Given the description of an element on the screen output the (x, y) to click on. 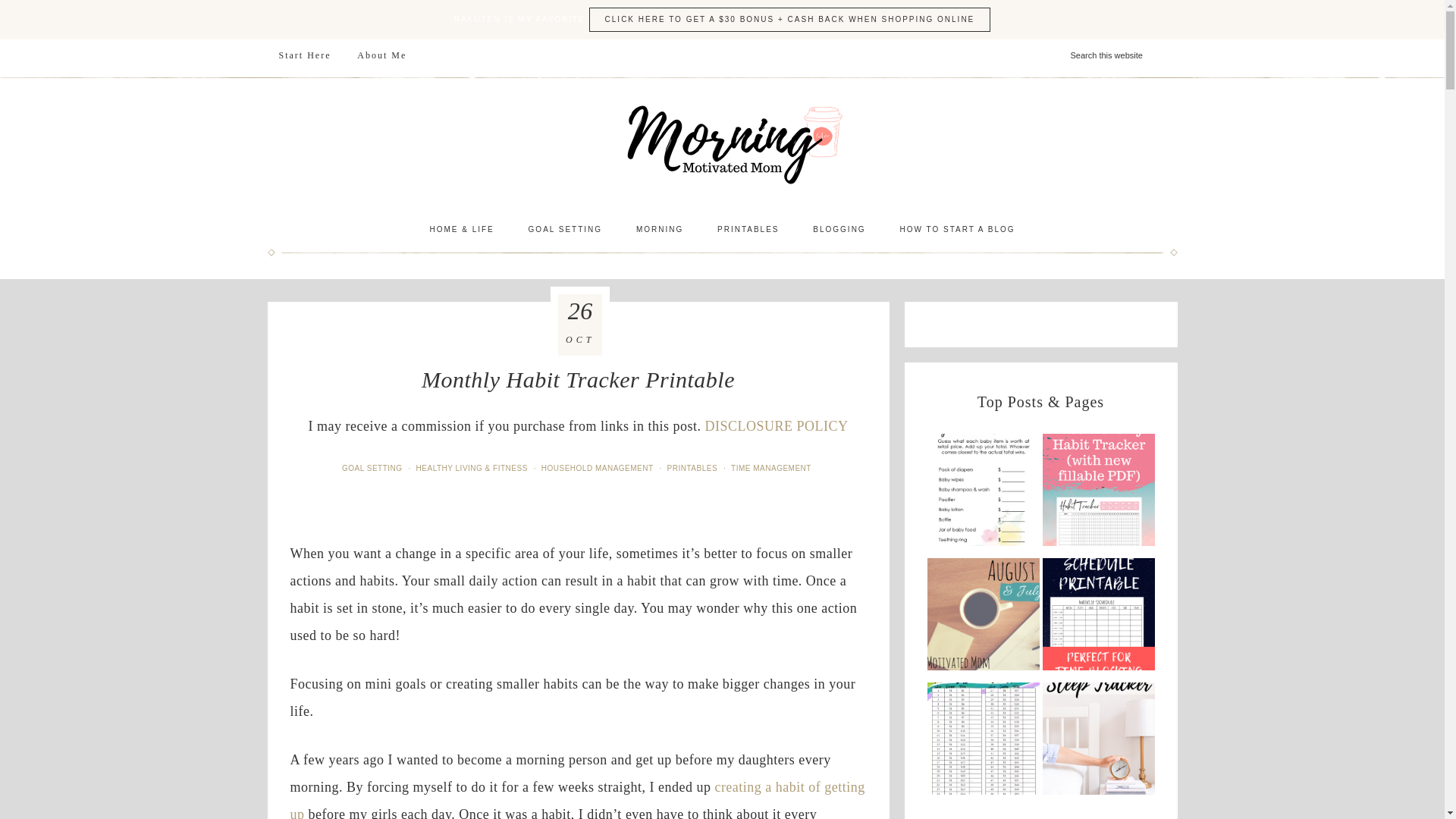
Sleep Tracker Printable (1098, 494)
GOAL SETTING (565, 229)
Start Here (304, 55)
BLOGGING (838, 229)
Baby Shower Scattergories Game (1098, 742)
DISCLOSURE POLICY (775, 426)
HOW TO START A BLOG (956, 229)
Weekly Schedule Printable (982, 742)
HOUSEHOLD MANAGEMENT (598, 468)
About Me (381, 55)
